Given the description of an element on the screen output the (x, y) to click on. 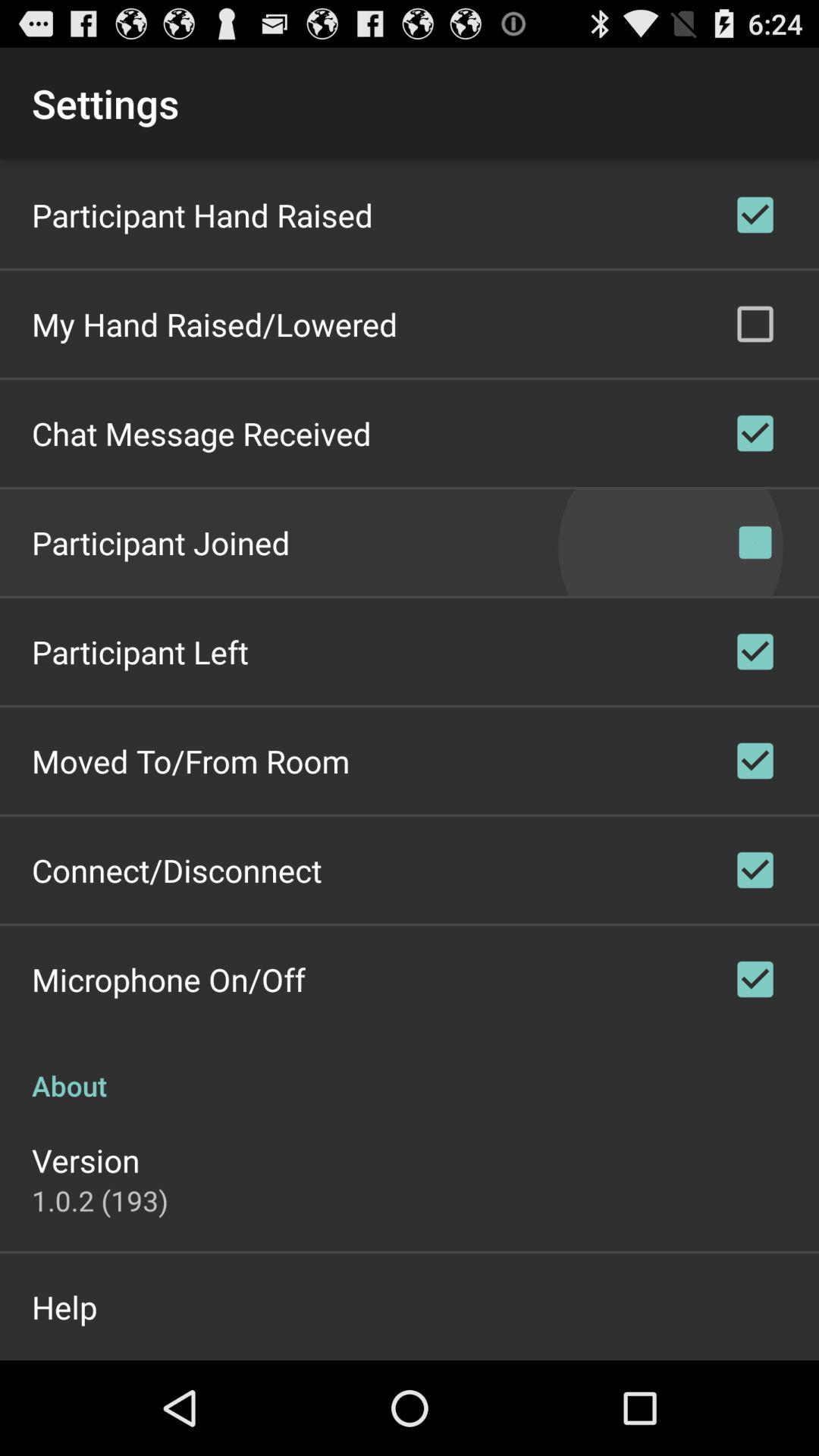
turn off item below moved to from app (176, 869)
